Given the description of an element on the screen output the (x, y) to click on. 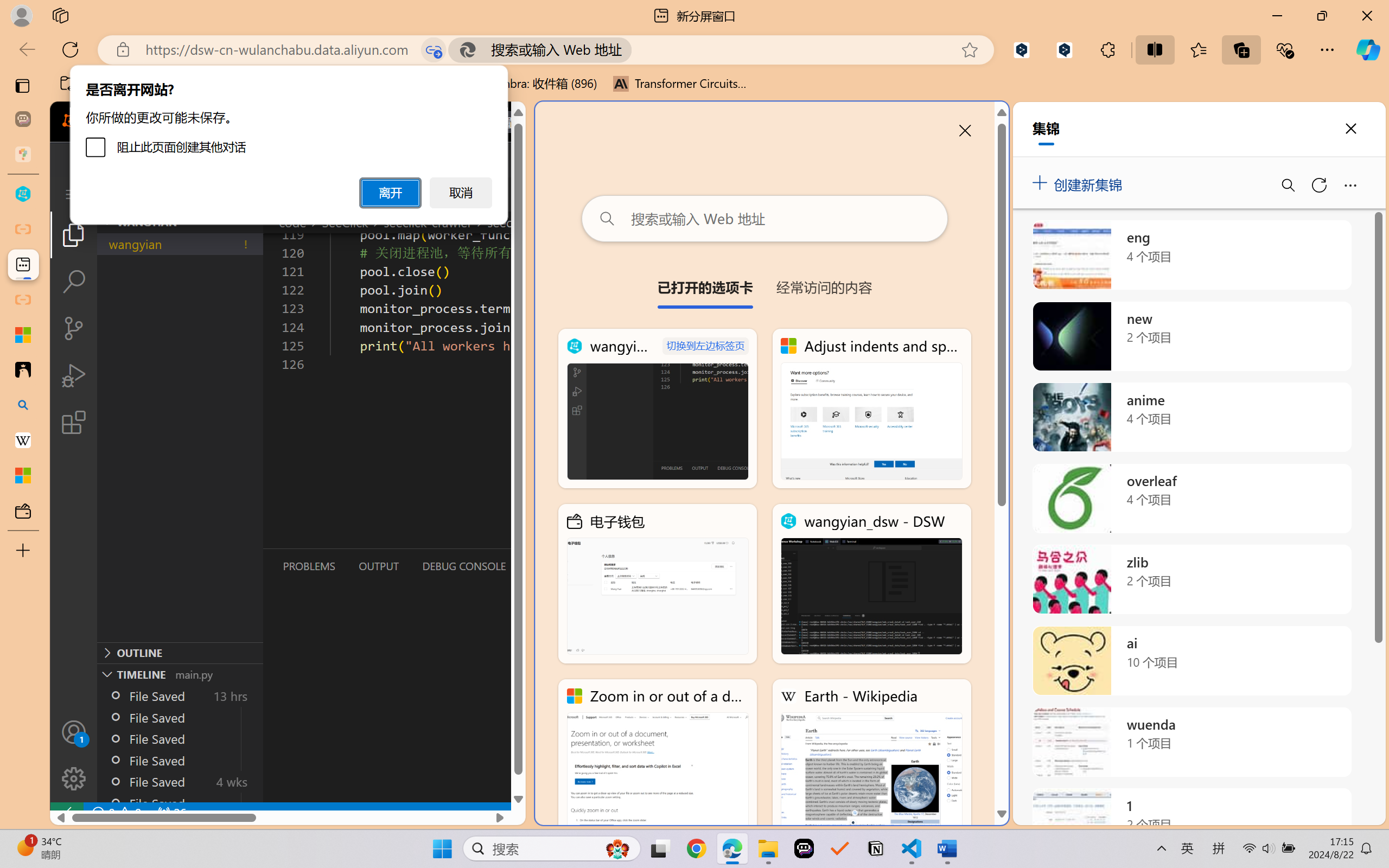
Slide Show (261, 29)
Rectangle: Rounded Corners (518, 60)
Slide Sorter (1223, 837)
Class: MsoCommandBar (694, 836)
Line (539, 48)
Increase Font Size (283, 52)
Connector: Elbow (539, 60)
Font Color (309, 71)
Present in Teams (1296, 29)
Font Size (260, 52)
Ribbon Display Options (1300, 10)
Font Size (263, 52)
Zoom to Fit  (1382, 837)
Shapes (583, 72)
Restore Down (1350, 10)
